Given the description of an element on the screen output the (x, y) to click on. 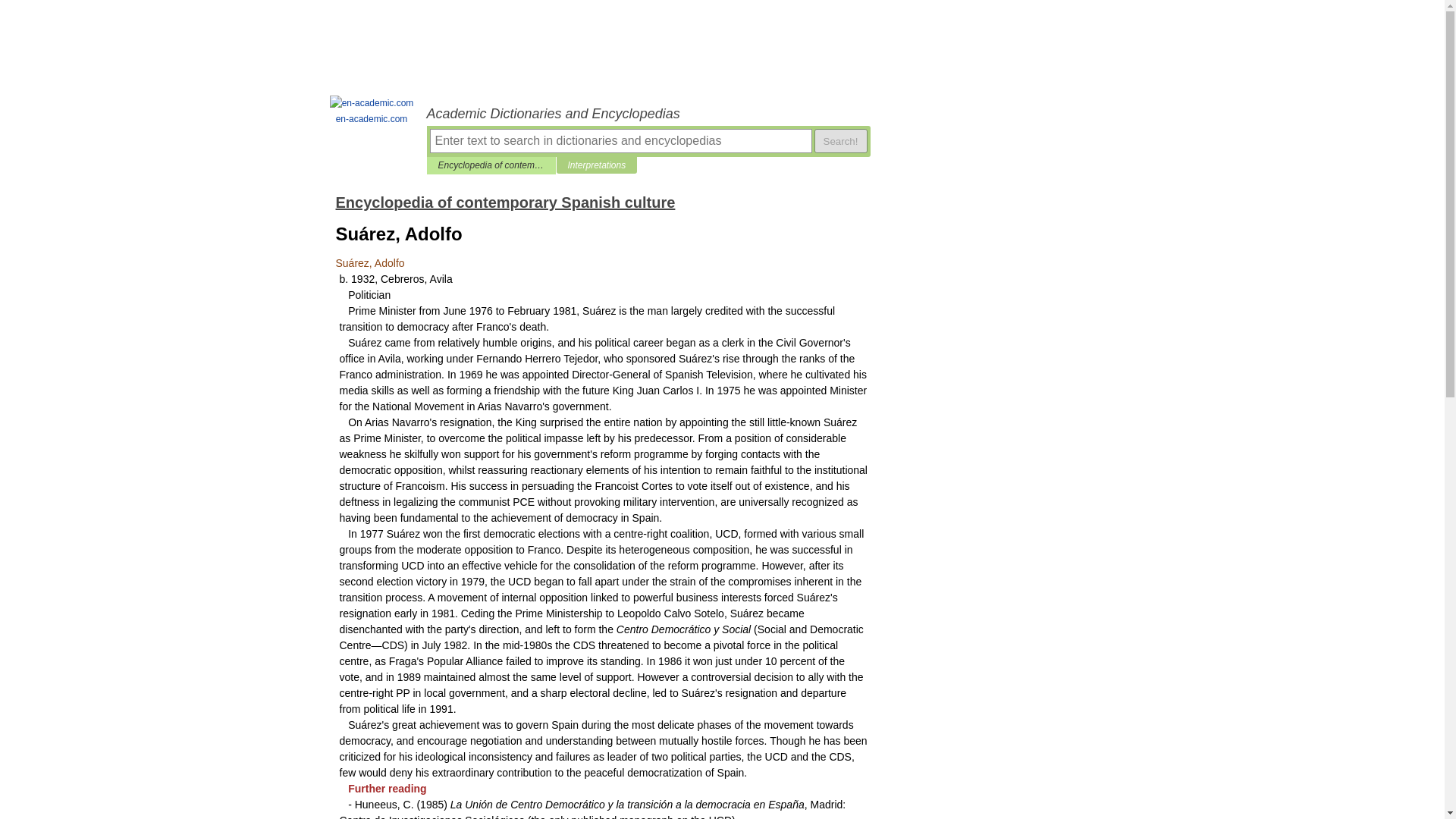
Enter text to search in dictionaries and encyclopedias (619, 140)
Academic Dictionaries and Encyclopedias (647, 114)
Interpretations (596, 165)
en-academic.com (371, 111)
Encyclopedia of contemporary Spanish culture (491, 165)
Search! (840, 140)
Encyclopedia of contemporary Spanish culture (504, 202)
